Given the description of an element on the screen output the (x, y) to click on. 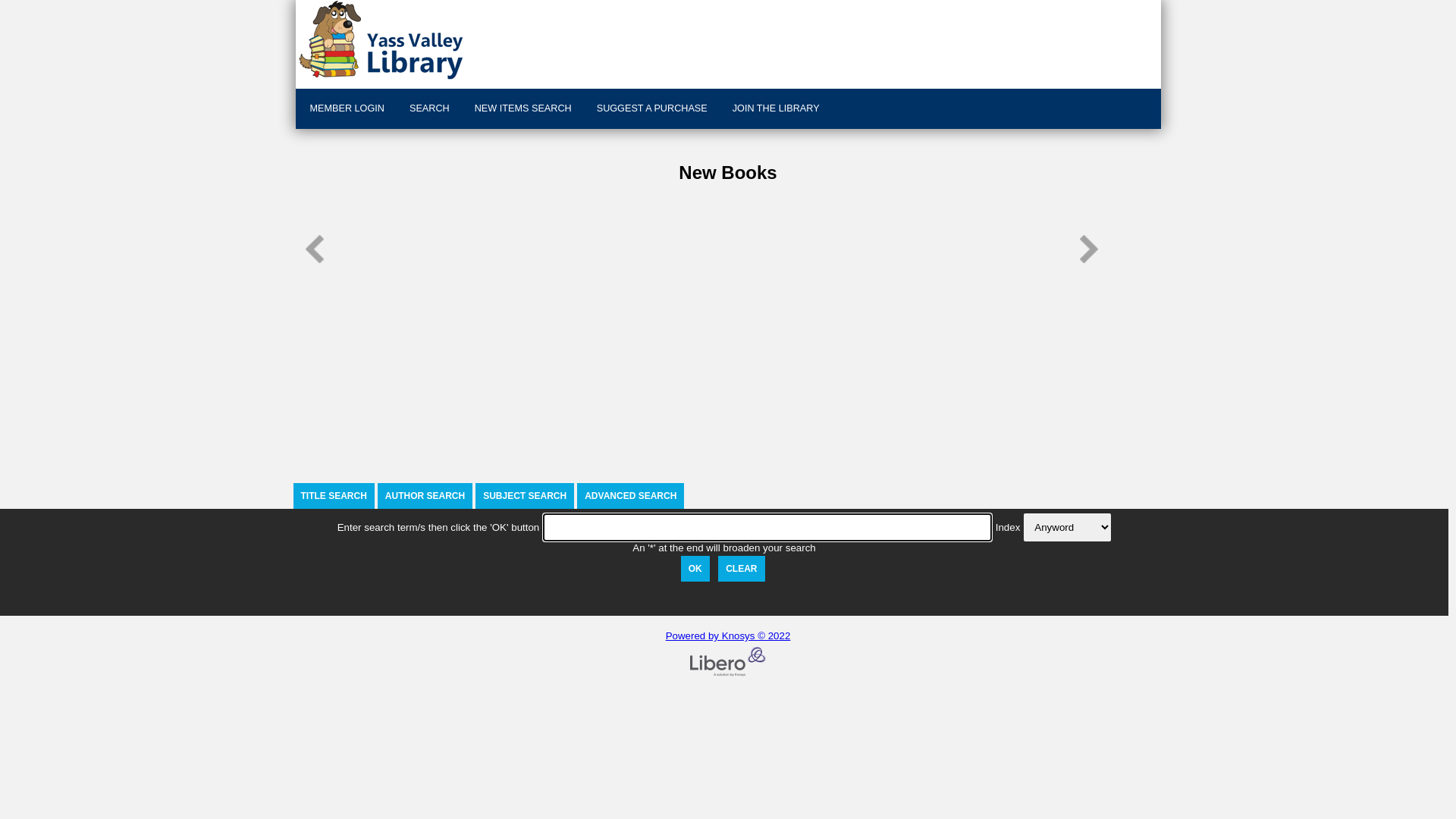
SUGGEST A PURCHASE Element type: text (650, 108)
JOIN THE LIBRARY Element type: text (774, 108)
OK Element type: text (694, 568)
Visit Libero WebOPAC Element type: hover (522, 40)
MEMBER LOGIN Element type: text (345, 108)
Alt-1 Element type: hover (694, 568)
Alt-2 Element type: hover (741, 568)
SEARCH Element type: text (427, 108)
NEW ITEMS SEARCH Element type: text (521, 108)
